Given the description of an element on the screen output the (x, y) to click on. 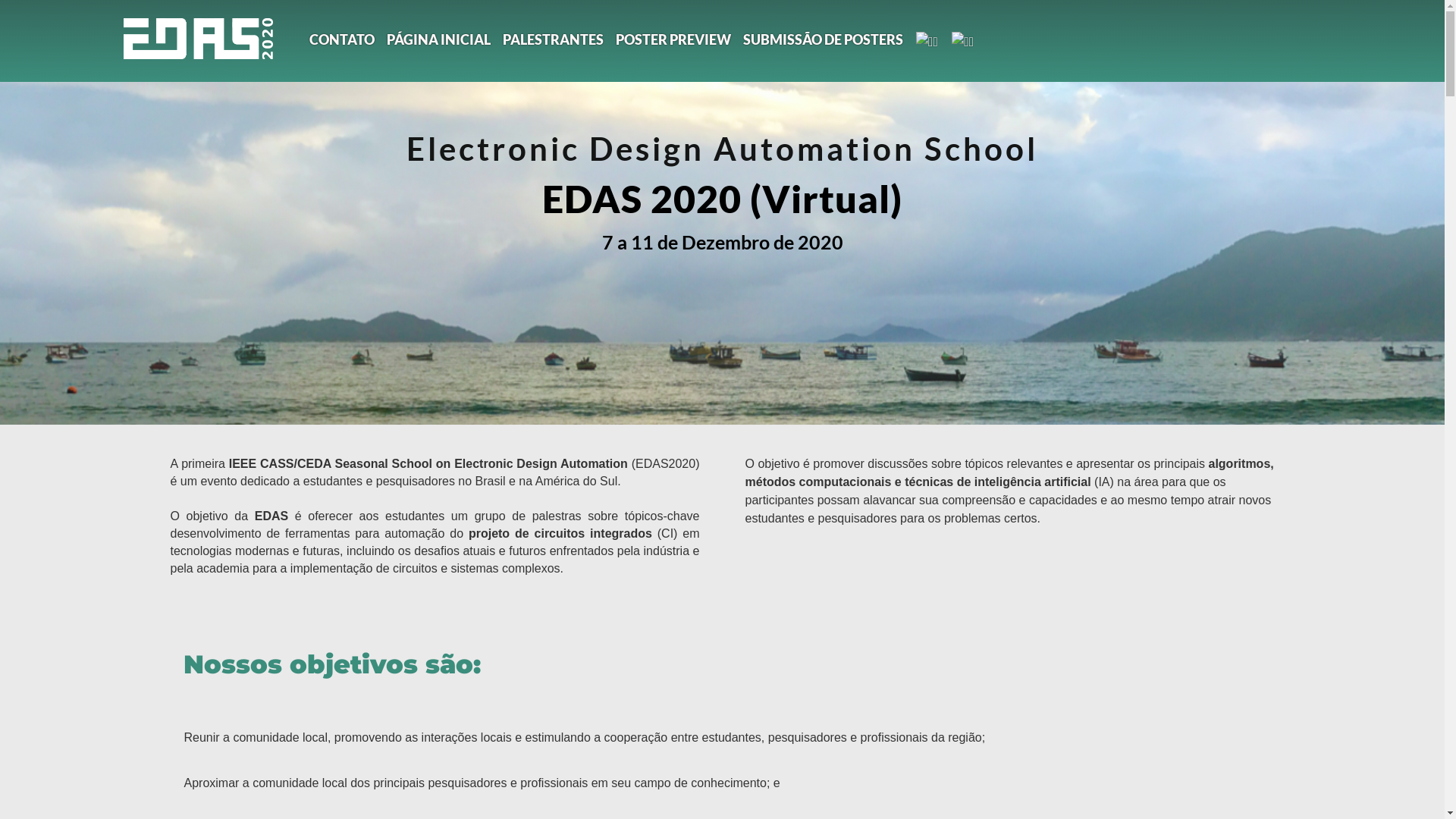
edas_logo_white Element type: hover (197, 38)
CONTATO Element type: text (341, 40)
POSTER PREVIEW Element type: text (673, 40)
PALESTRANTES Element type: text (552, 40)
